Given the description of an element on the screen output the (x, y) to click on. 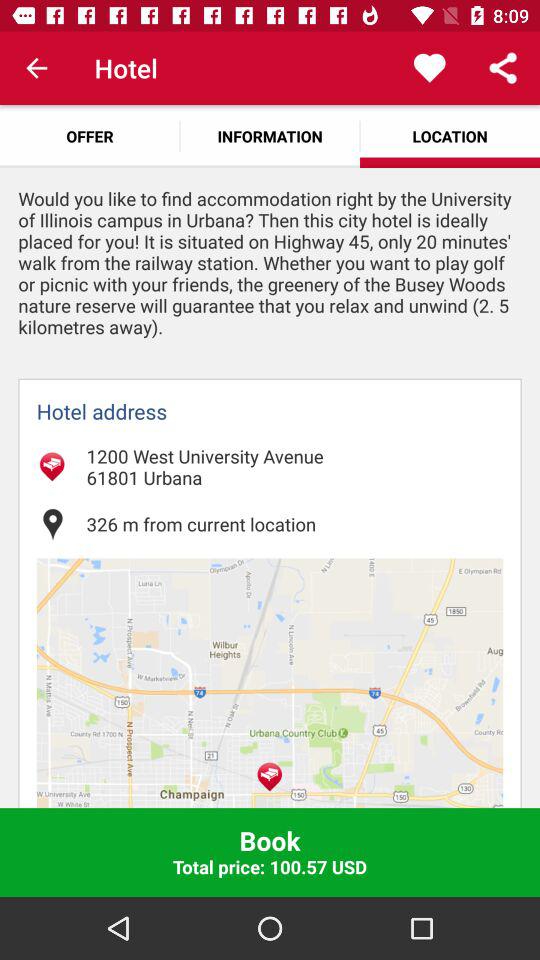
launch the item to the right of the information (429, 67)
